Given the description of an element on the screen output the (x, y) to click on. 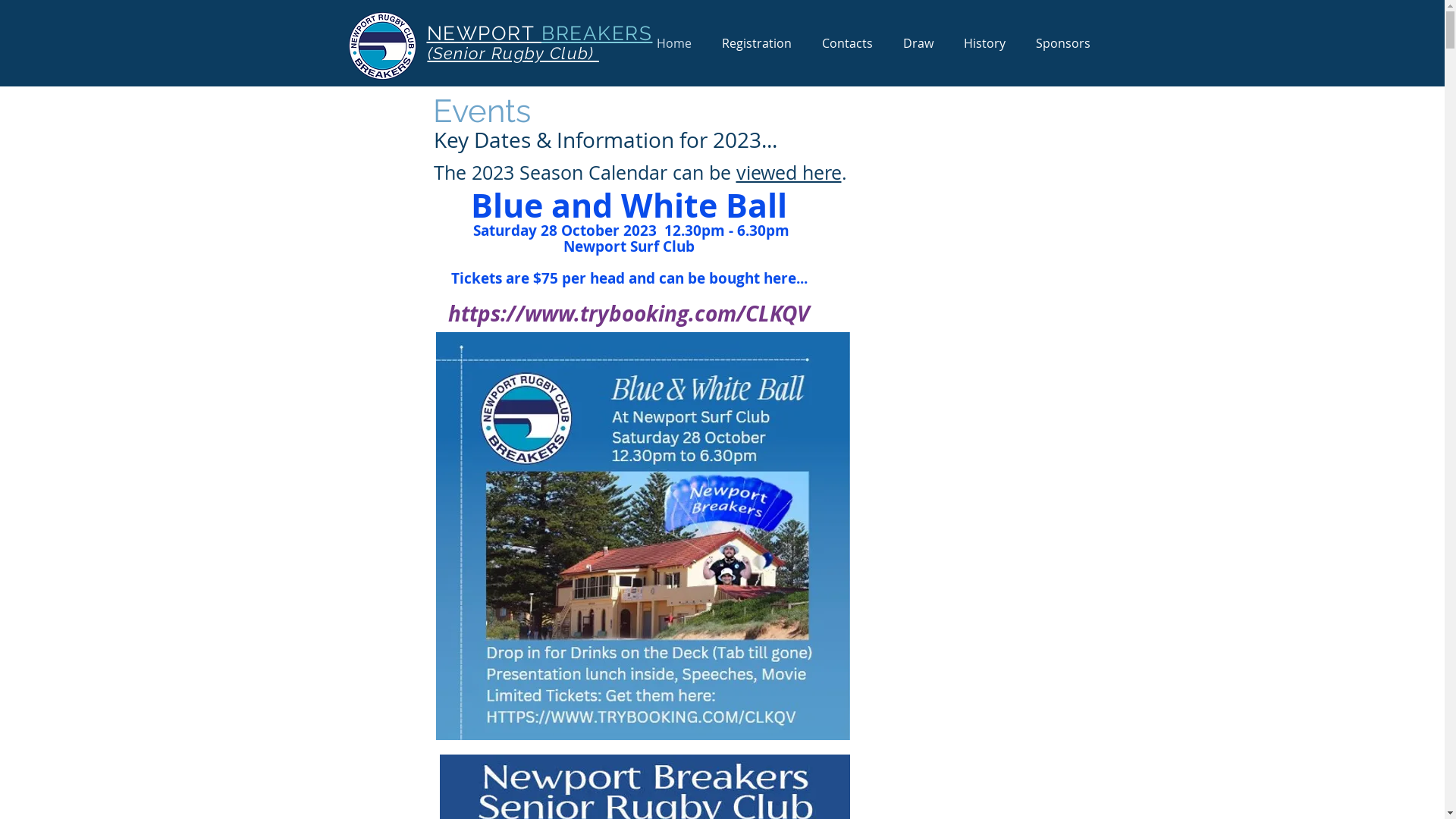
Registration Element type: text (756, 43)
https://www.trybooking.com/CLKQV Element type: text (628, 313)
Contacts Element type: text (847, 43)
viewed here Element type: text (787, 172)
Sponsors Element type: text (1062, 43)
NEWPORT BREAKERS Element type: text (539, 32)
Home Element type: text (673, 43)
Draw Element type: text (917, 43)
(Senior Rugby Club)  Element type: text (513, 52)
History Element type: text (983, 43)
